Given the description of an element on the screen output the (x, y) to click on. 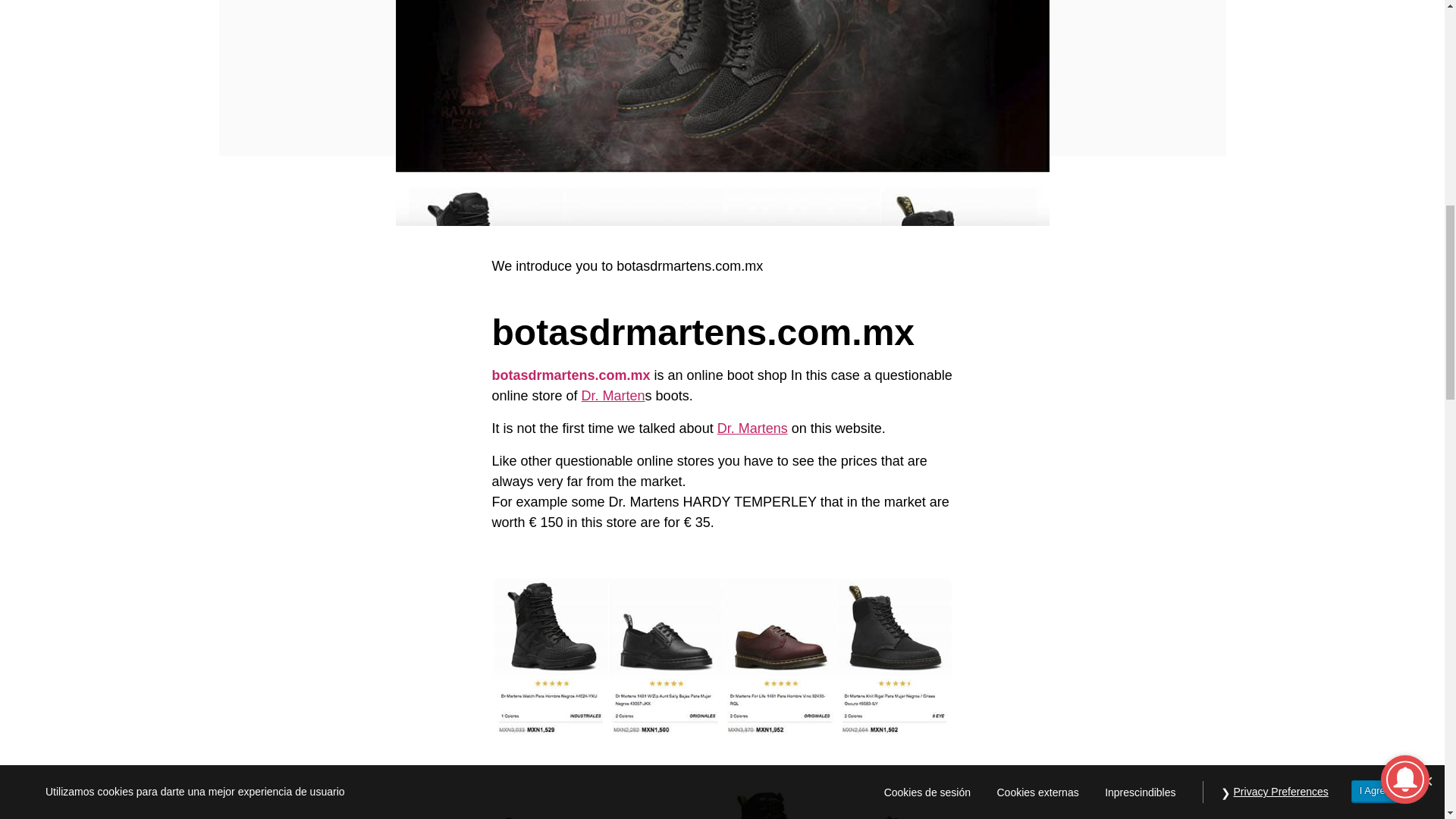
Dr. Martens (752, 427)
Dr. Marten (612, 395)
